Given the description of an element on the screen output the (x, y) to click on. 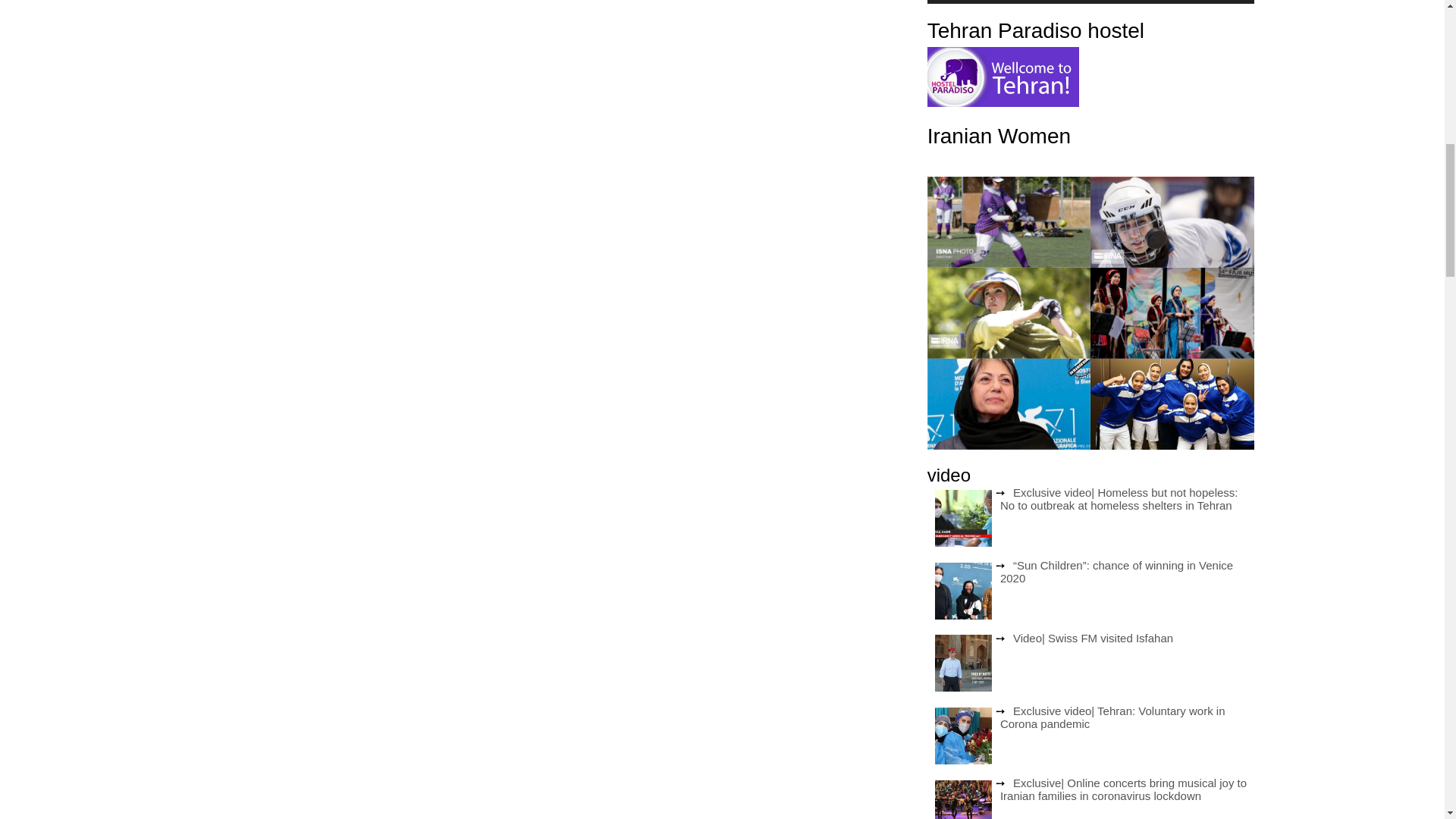
Spring in the unique nature of Ardabil (274, 148)
Spring in the unique nature of Ardabil (274, 500)
Spring in the unique nature of Ardabil (274, 618)
Spring in the unique nature of Ardabil (274, 43)
Spring in the unique nature of Ardabil (274, 265)
Spring in the unique nature of Ardabil (274, 807)
Spring in the unique nature of Ardabil (274, 736)
Spring in the unique nature of Ardabil (274, 383)
